Given the description of an element on the screen output the (x, y) to click on. 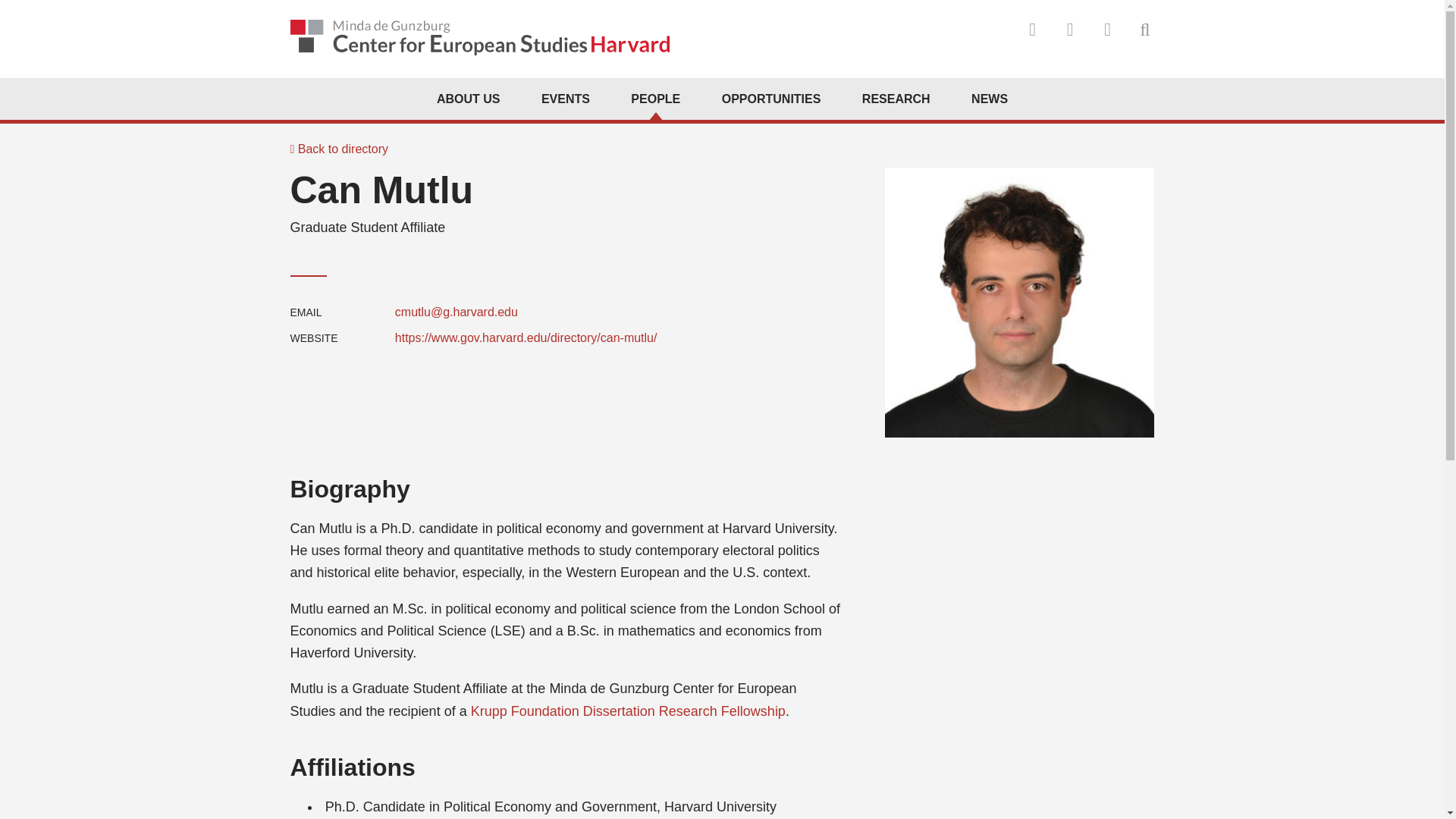
ABOUT US (468, 98)
EVENTS (565, 98)
PEOPLE (654, 98)
